Given the description of an element on the screen output the (x, y) to click on. 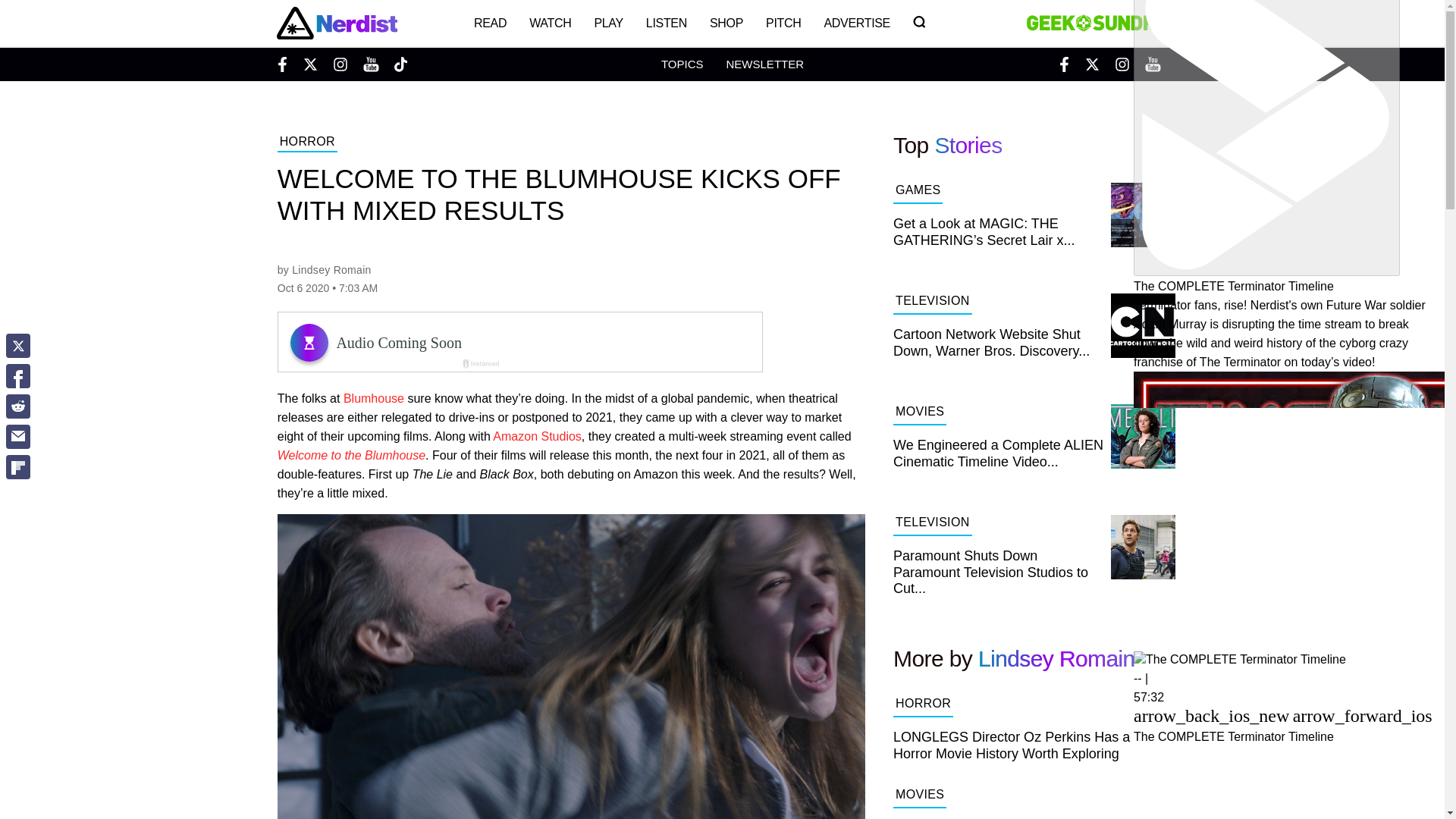
Welcome to the Blumhouse (351, 454)
Nerdist (336, 23)
Twitter Nerdist (309, 63)
ADVERTISE (856, 22)
We Engineered a Complete ALIEN Cinematic Timeline Video... (1033, 457)
ADVERTISE (856, 22)
Amazon Studios (536, 436)
NEWSLETTER (764, 63)
Topics (681, 63)
READ (490, 22)
